Given the description of an element on the screen output the (x, y) to click on. 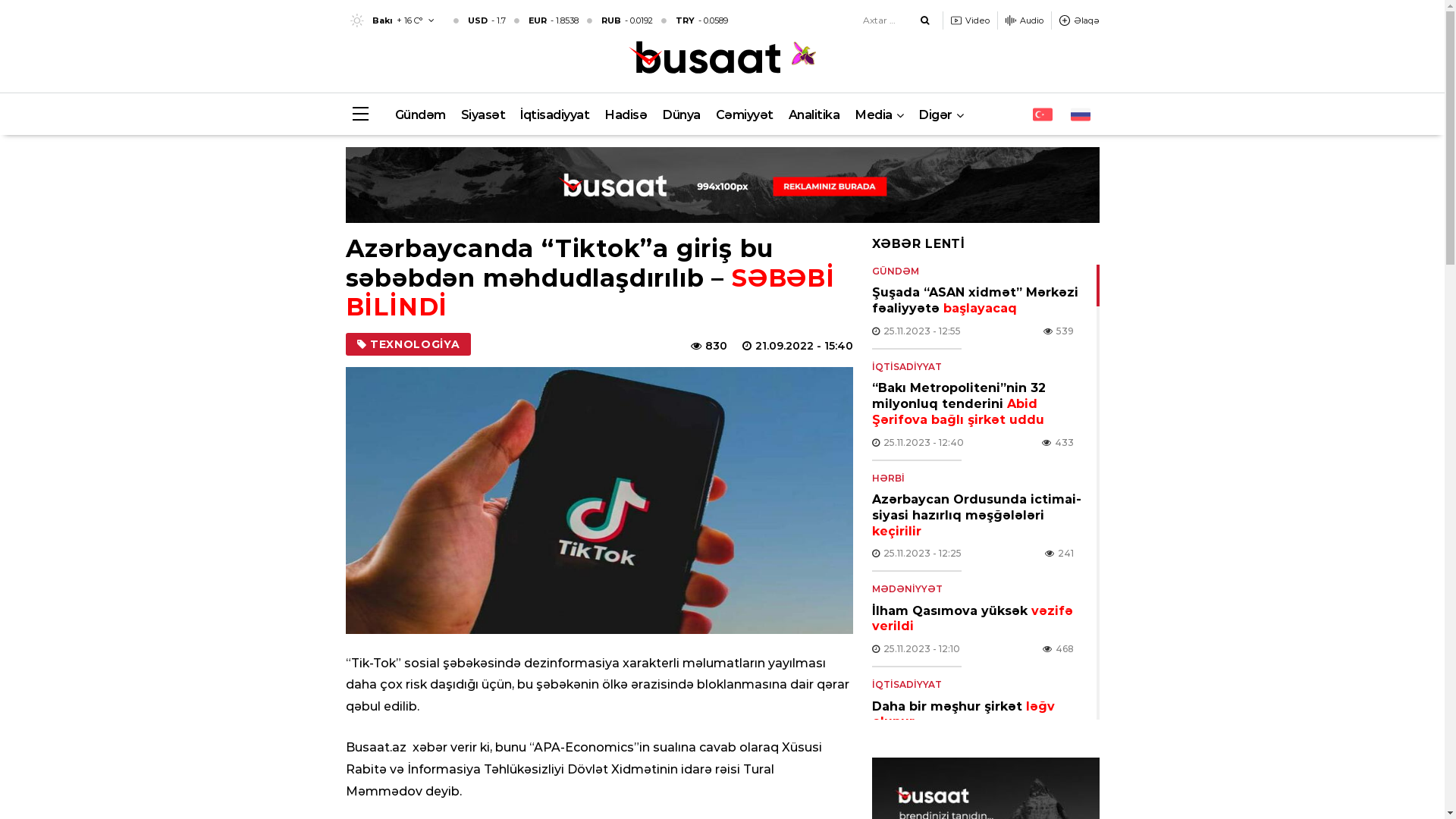
Analitika Element type: text (814, 115)
!Reklam Element type: hover (722, 184)
Media Element type: text (878, 115)
TR Element type: hover (1042, 114)
USD
- 1.7
EUR
- 1.8538
RUB
- 0.0192
TRY
- 0.0589 Element type: text (589, 20)
Busaat.az Element type: hover (704, 58)
Axtar Element type: hover (925, 20)
TEXNOLOGIYA Element type: text (407, 343)
Audio Element type: text (1024, 20)
RU Element type: hover (1080, 114)
Video Element type: text (969, 20)
